Given the description of an element on the screen output the (x, y) to click on. 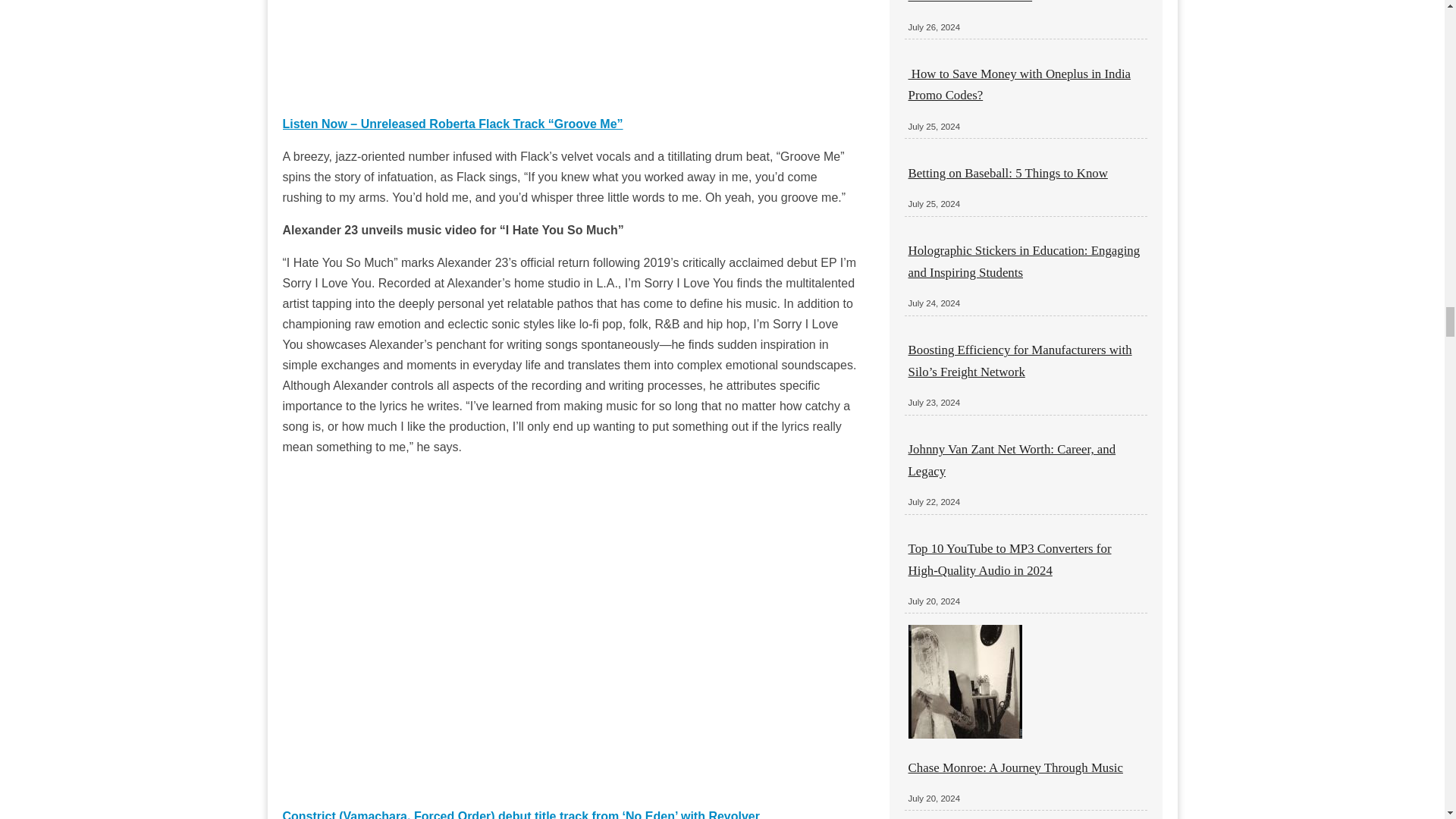
What is the CES Letter? (970, 1)
